Given the description of an element on the screen output the (x, y) to click on. 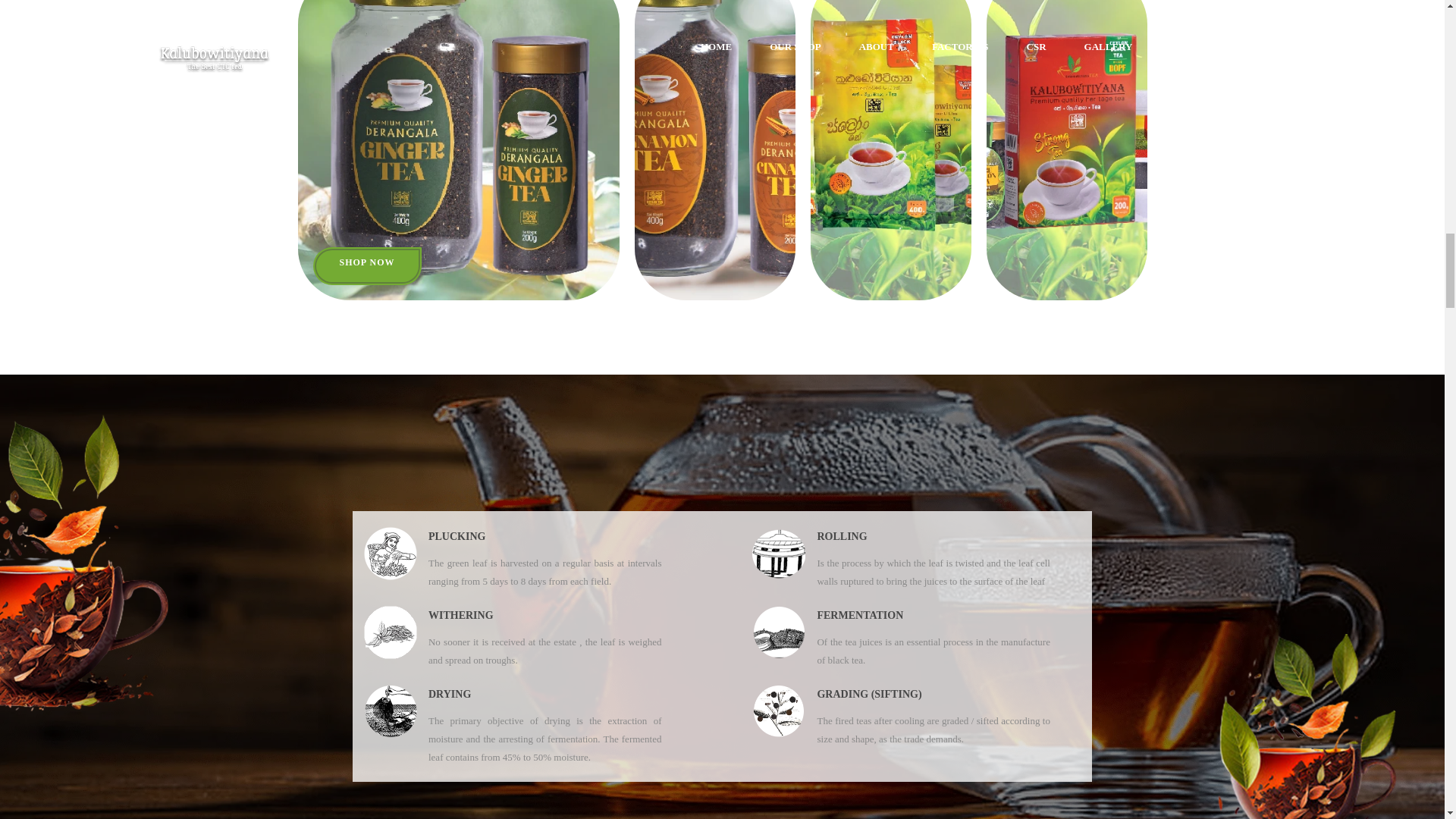
WITHERING (460, 615)
DRYING (449, 694)
PLUCKING (456, 536)
SHOP NOW (366, 266)
FERMENTATION (859, 615)
ROLLING (841, 536)
